Given the description of an element on the screen output the (x, y) to click on. 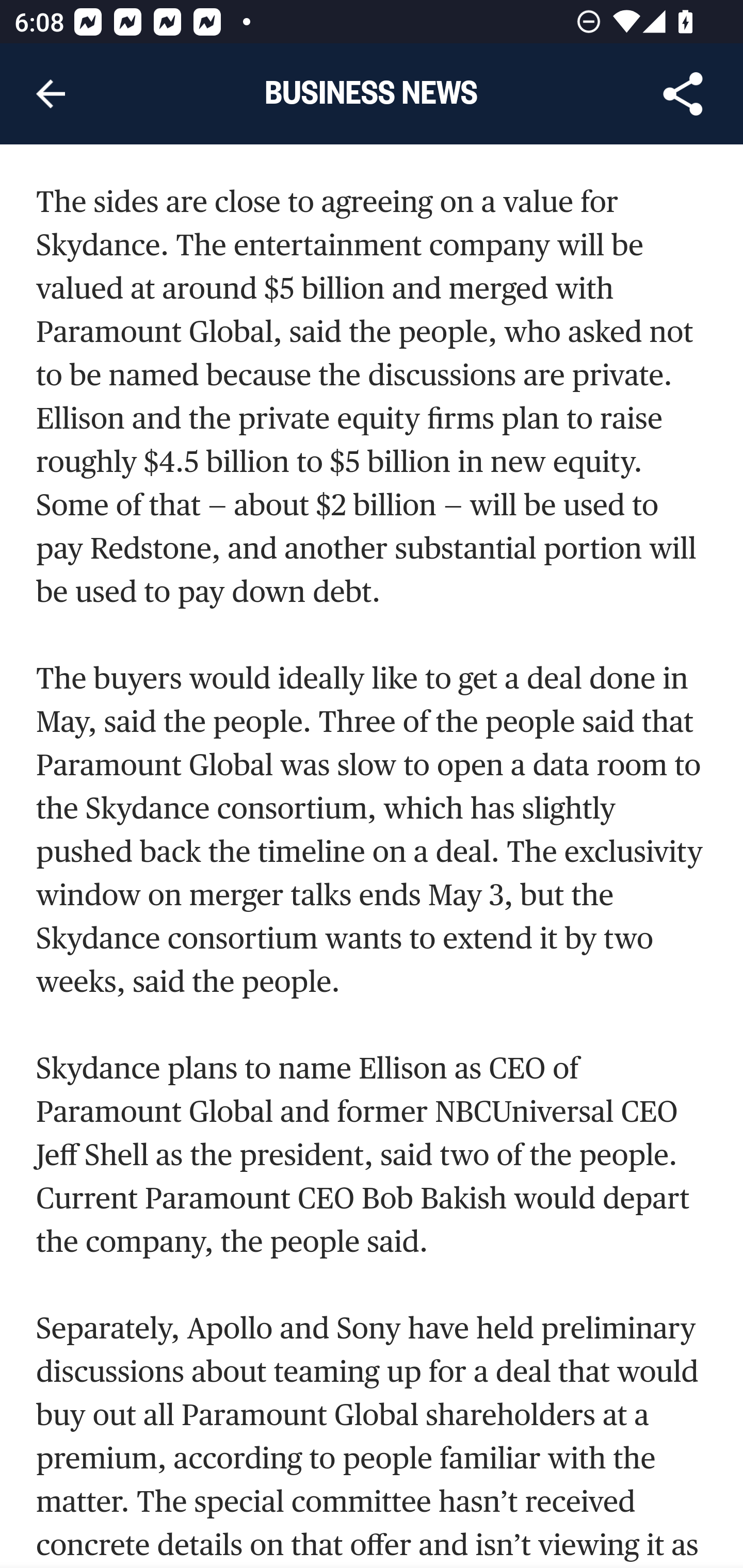
Navigate up (50, 93)
Share Article, button (683, 94)
